Given the description of an element on the screen output the (x, y) to click on. 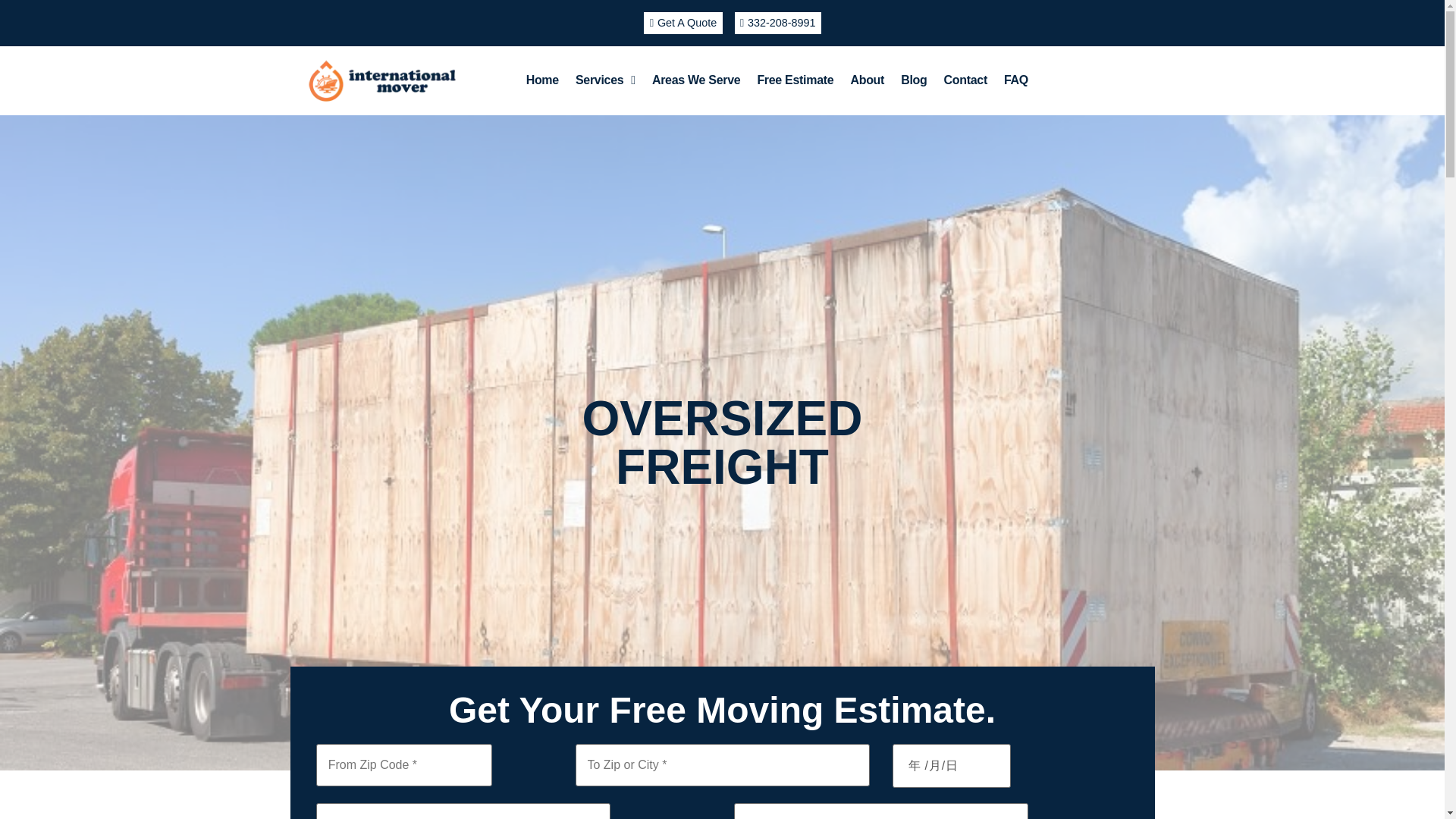
332-208-8991 (777, 23)
Blog (913, 79)
Contact (964, 79)
Services (605, 79)
Home (542, 79)
FAQ (1015, 79)
About (866, 79)
Areas We Serve (695, 79)
Get A Quote (682, 23)
Free Estimate (794, 79)
